Given the description of an element on the screen output the (x, y) to click on. 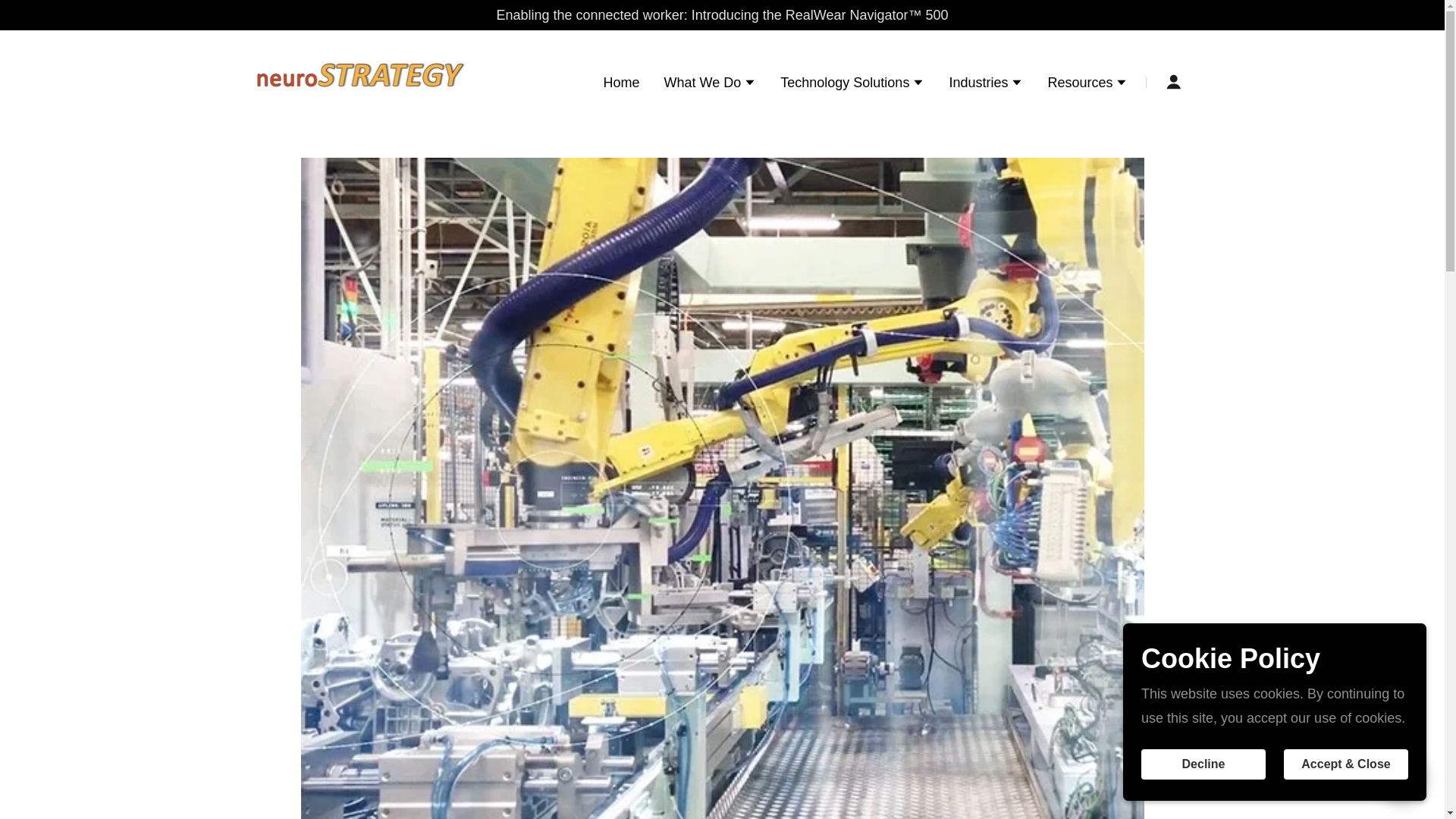
Industries (986, 84)
Resources (1086, 84)
Home (621, 81)
Technology Solutions (852, 84)
What We Do (710, 84)
